Given the description of an element on the screen output the (x, y) to click on. 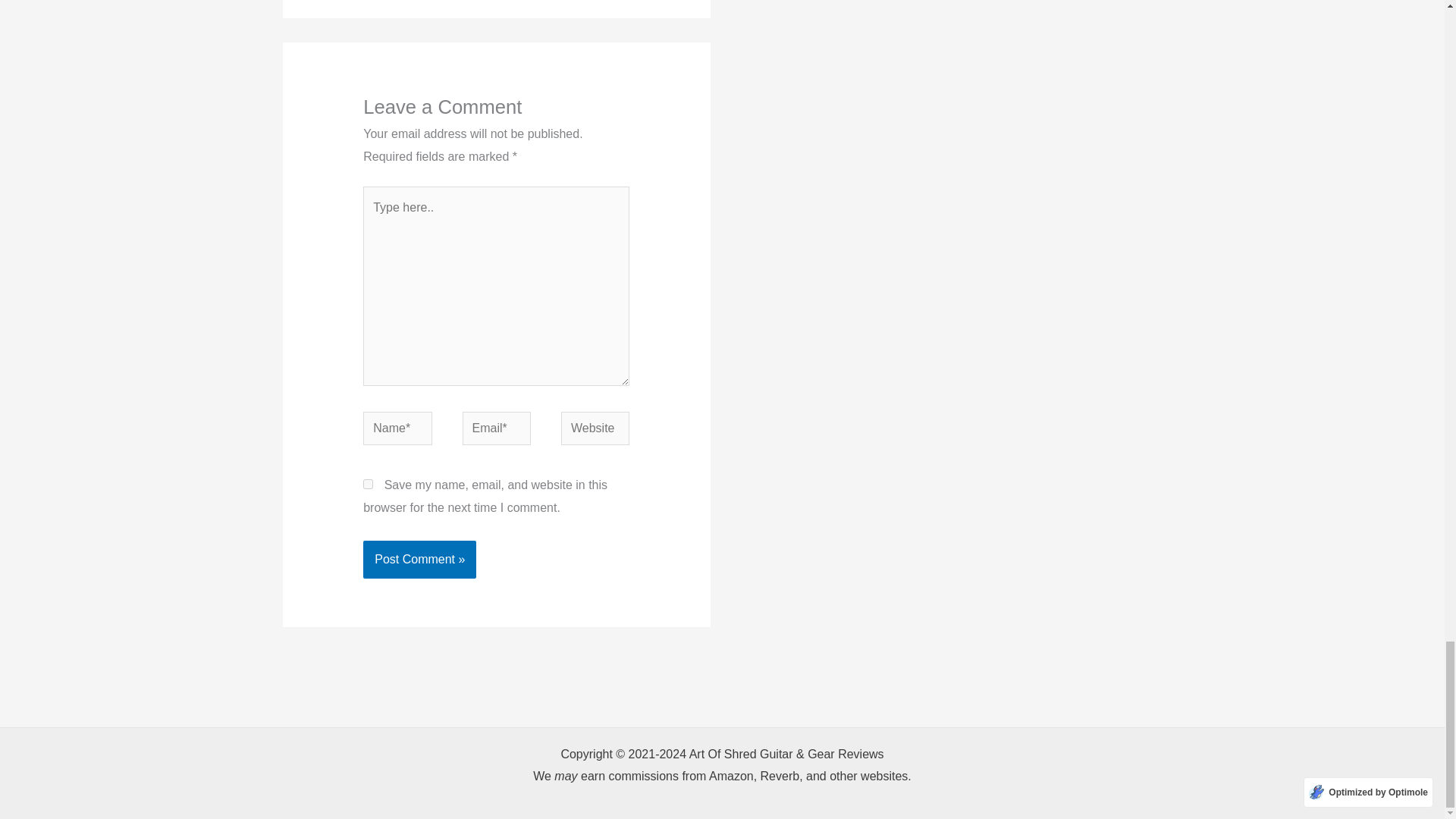
yes (367, 483)
